Given the description of an element on the screen output the (x, y) to click on. 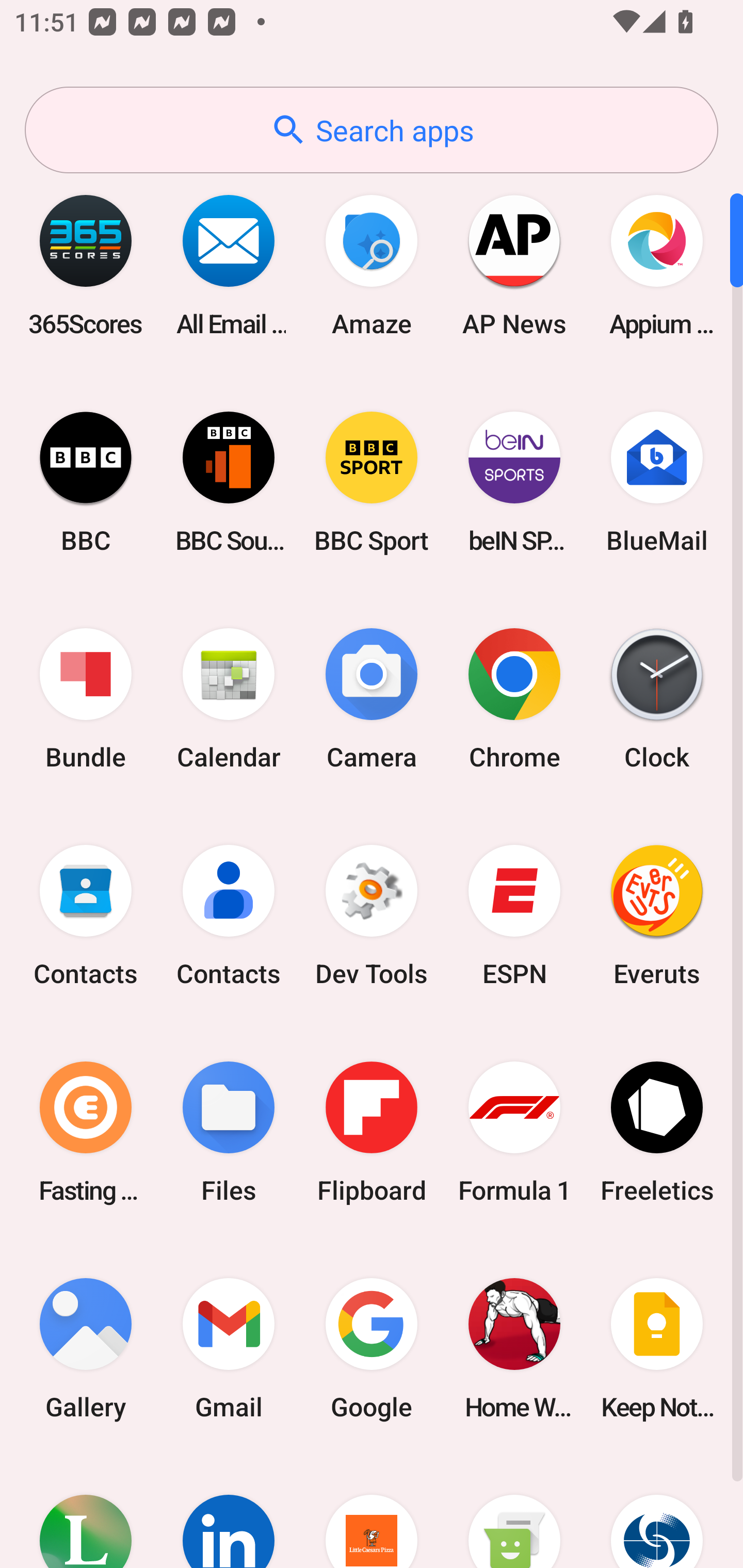
  Search apps (371, 130)
365Scores (85, 264)
All Email Connect (228, 264)
Amaze (371, 264)
AP News (514, 264)
Appium Settings (656, 264)
BBC (85, 482)
BBC Sounds (228, 482)
BBC Sport (371, 482)
beIN SPORTS (514, 482)
BlueMail (656, 482)
Bundle (85, 699)
Calendar (228, 699)
Camera (371, 699)
Chrome (514, 699)
Clock (656, 699)
Contacts (85, 915)
Contacts (228, 915)
Dev Tools (371, 915)
ESPN (514, 915)
Everuts (656, 915)
Fasting Coach (85, 1131)
Files (228, 1131)
Flipboard (371, 1131)
Formula 1 (514, 1131)
Freeletics (656, 1131)
Gallery (85, 1348)
Gmail (228, 1348)
Google (371, 1348)
Home Workout (514, 1348)
Keep Notes (656, 1348)
Lifesum (85, 1512)
LinkedIn (228, 1512)
Little Caesars Pizza (371, 1512)
Messaging (514, 1512)
MyObservatory (656, 1512)
